Given the description of an element on the screen output the (x, y) to click on. 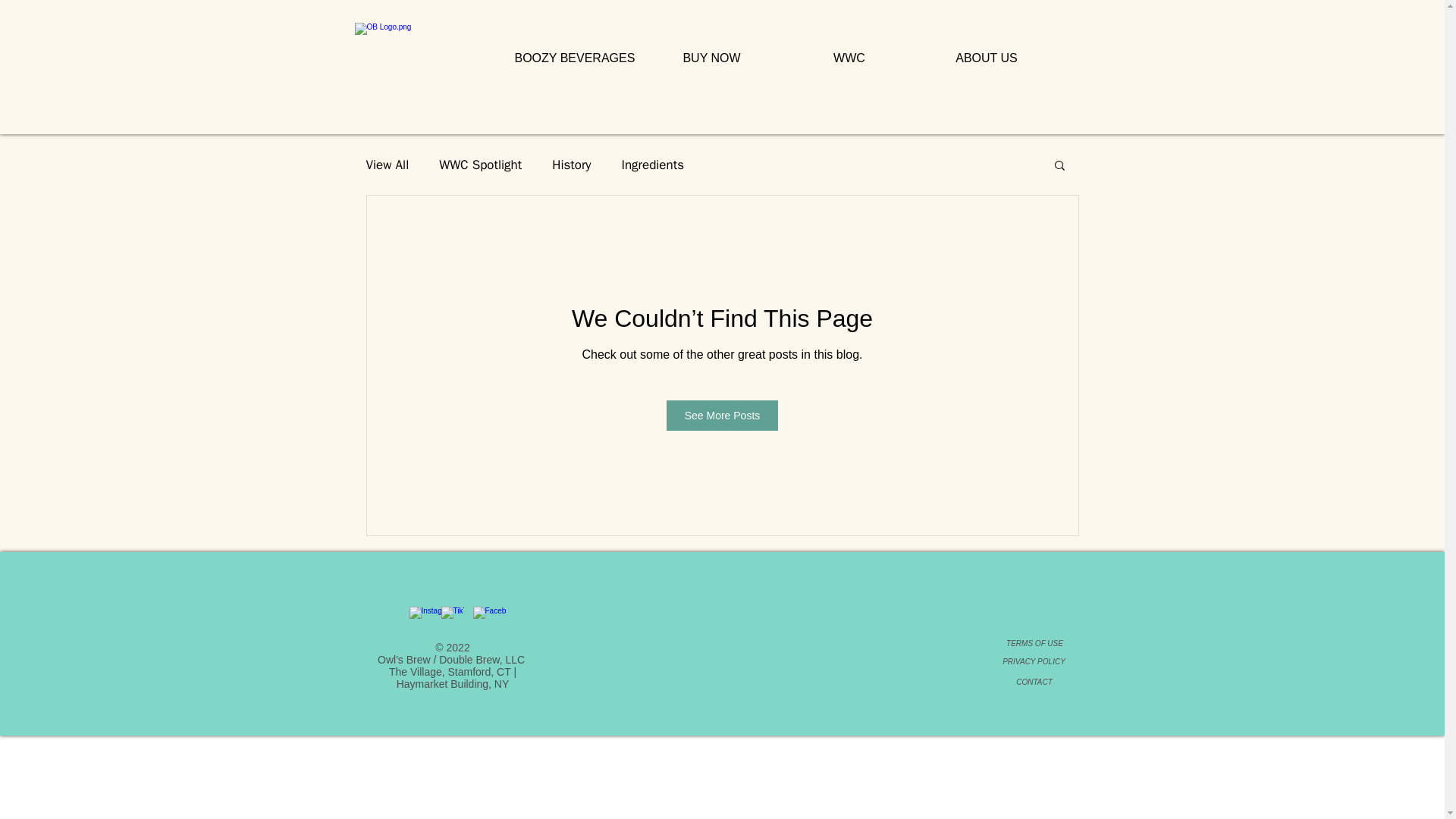
PRIVACY POLICY (1034, 661)
ABOUT US (985, 58)
WWC Spotlight (480, 164)
History (571, 164)
See More Posts (722, 415)
CONTACT (1034, 682)
BUY NOW (711, 58)
TERMS OF USE (1034, 643)
WWC (849, 58)
View All (387, 164)
